Given the description of an element on the screen output the (x, y) to click on. 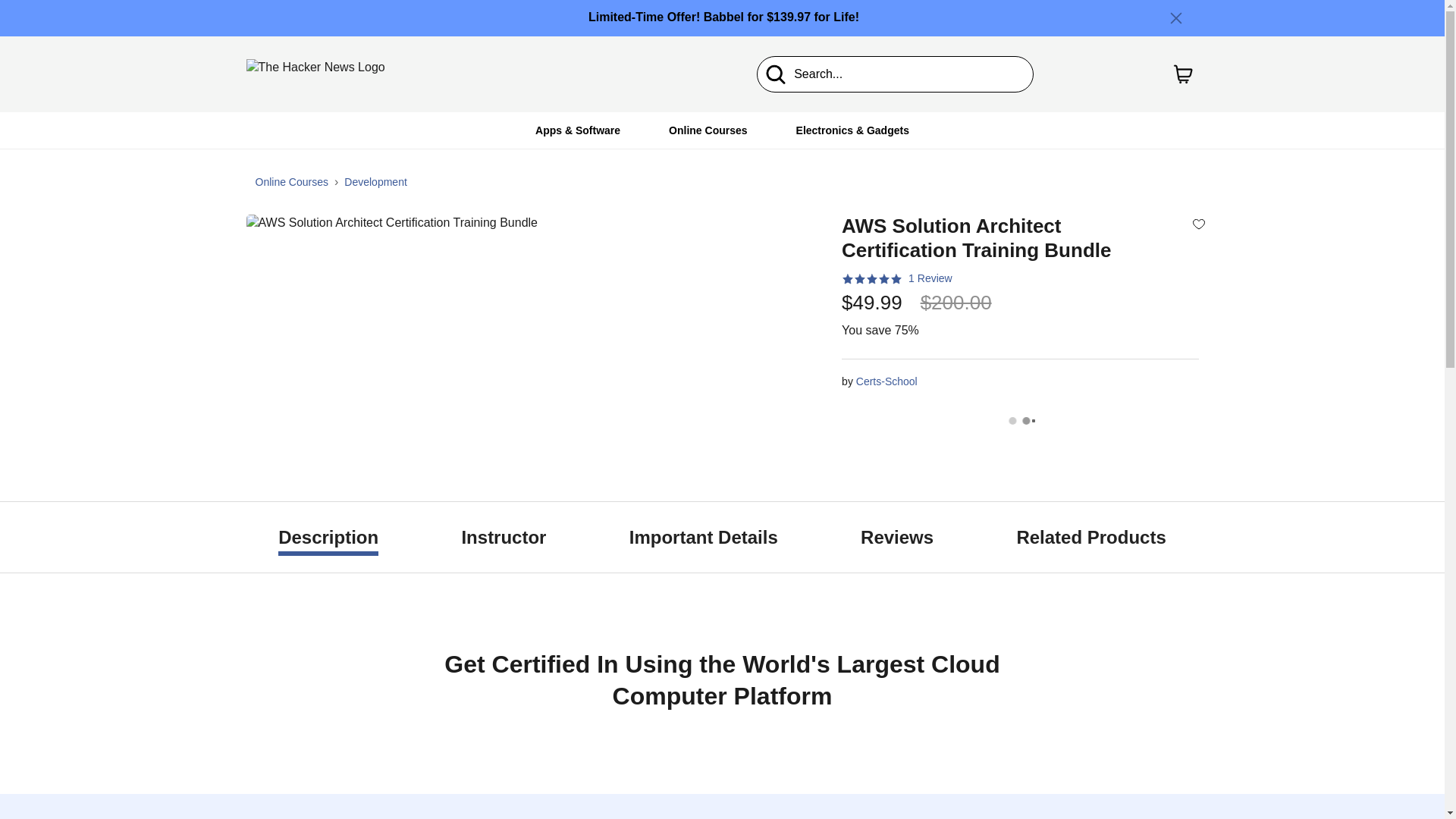
Add to wishlist (1198, 223)
